Given the description of an element on the screen output the (x, y) to click on. 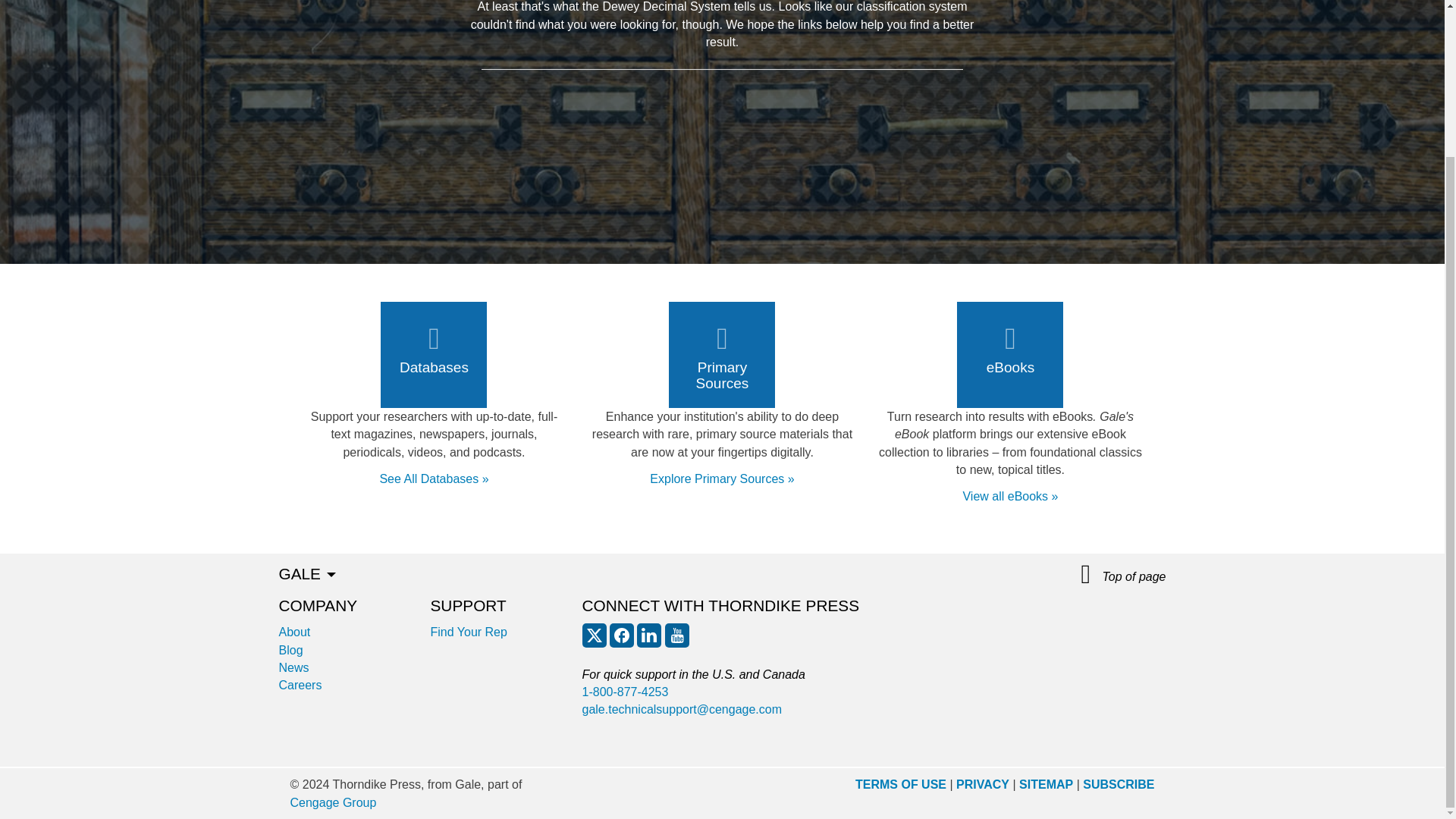
Top of page (1123, 574)
Top of page (1123, 574)
